Given the description of an element on the screen output the (x, y) to click on. 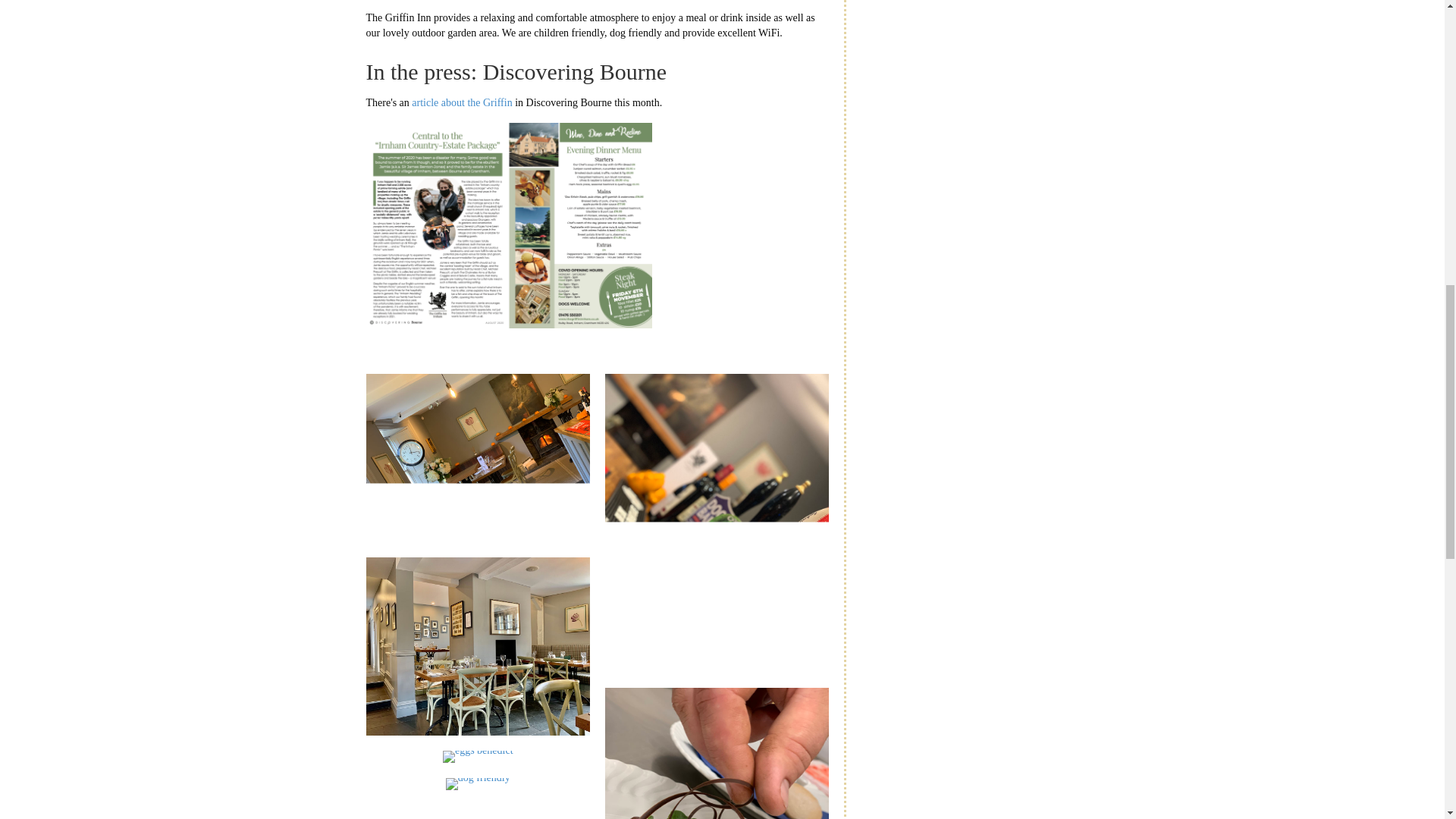
bar area (477, 457)
article about the Griffin (462, 102)
eggs benedict (477, 756)
dog friendly (478, 784)
chocolate ganache (716, 753)
dining-area-2 (477, 646)
